Given the description of an element on the screen output the (x, y) to click on. 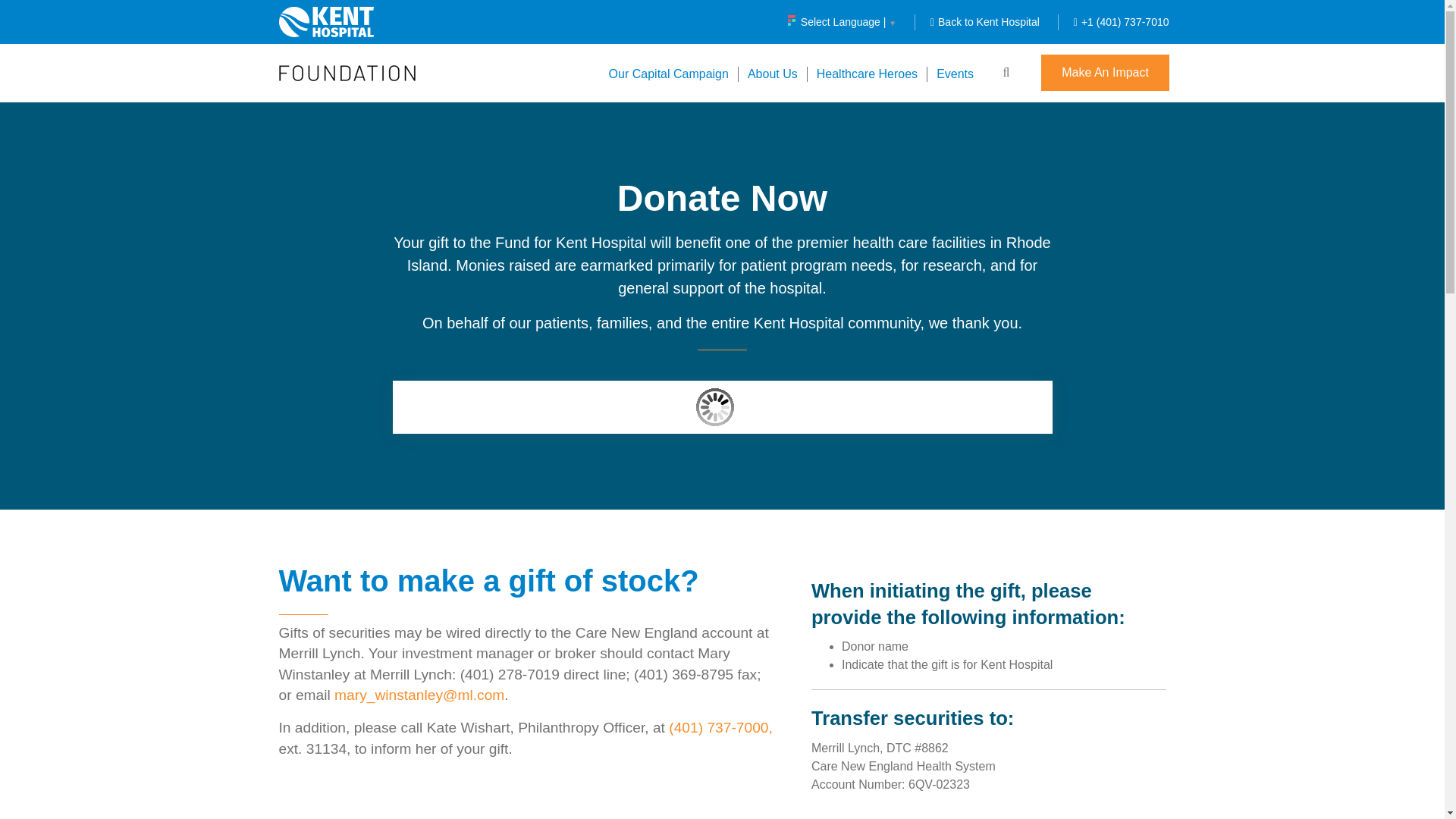
Our Capital Campaign (668, 73)
About Us (772, 73)
Events (954, 73)
Make An Impact (1105, 72)
Make An Impact (1105, 72)
Healthcare Heroes (866, 73)
Back to Kent Hospital (984, 21)
